Given the description of an element on the screen output the (x, y) to click on. 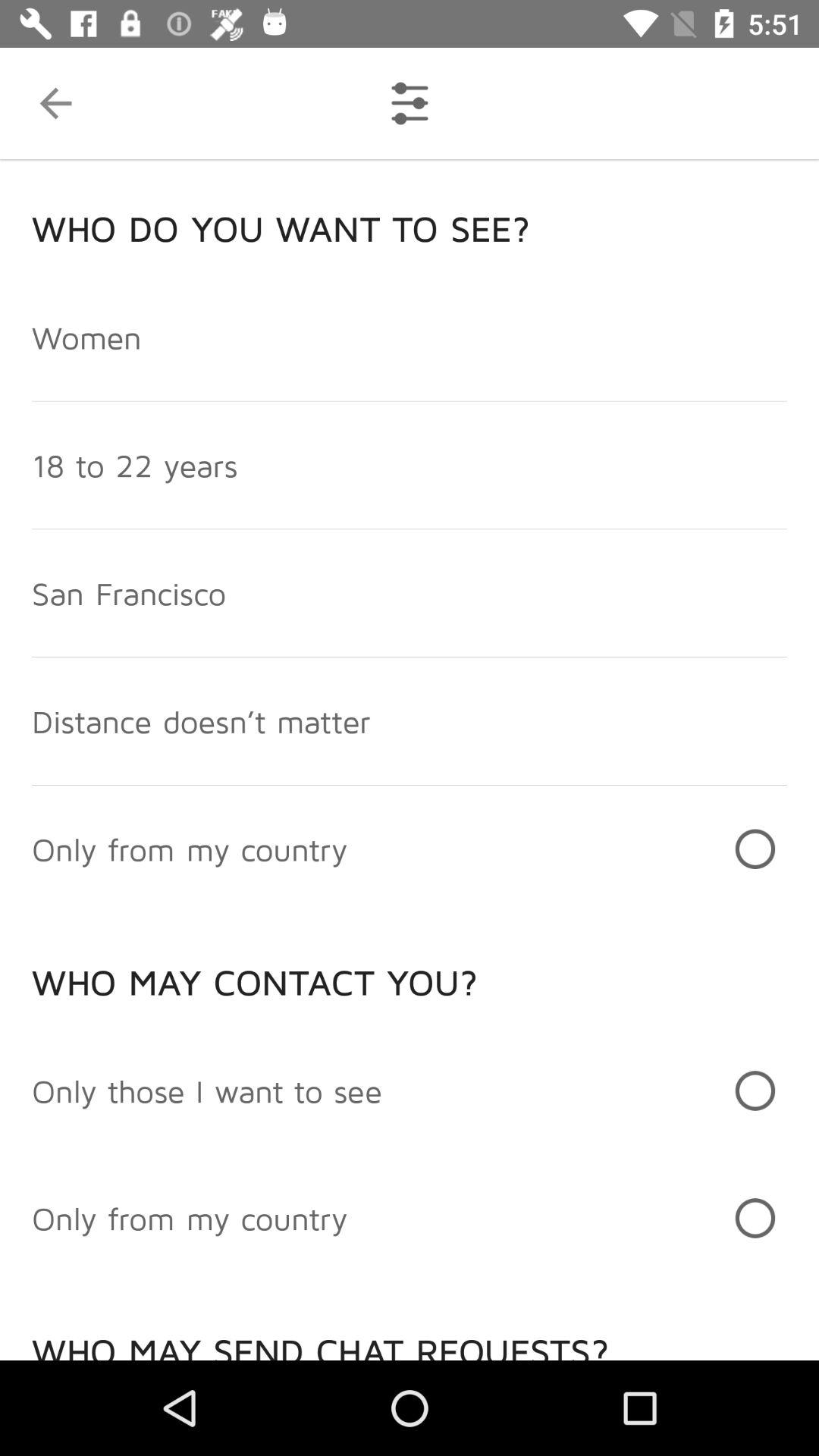
open the 18 to 22 item (134, 464)
